Given the description of an element on the screen output the (x, y) to click on. 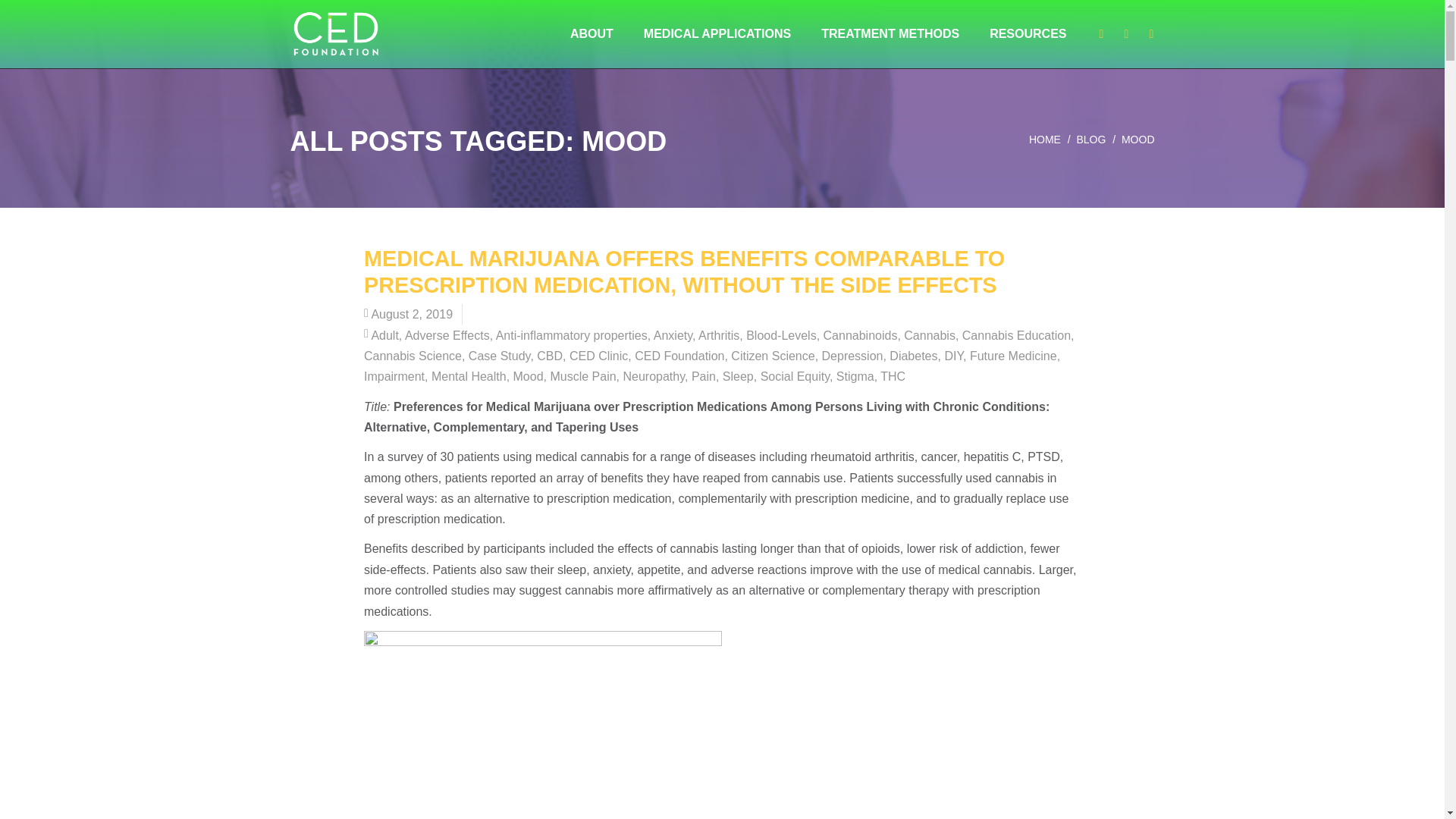
BLOG (1090, 139)
Adult (384, 335)
Cannabinoids (861, 335)
HOME (1045, 139)
ABOUT (591, 33)
Blood-Levels (780, 335)
Cannabis Science (412, 355)
Cannabis Education (1016, 335)
Arthritis (718, 335)
Anti-inflammatory properties (571, 335)
Case Study (499, 355)
MEDICAL APPLICATIONS (717, 33)
Adverse Effects (446, 335)
